Given the description of an element on the screen output the (x, y) to click on. 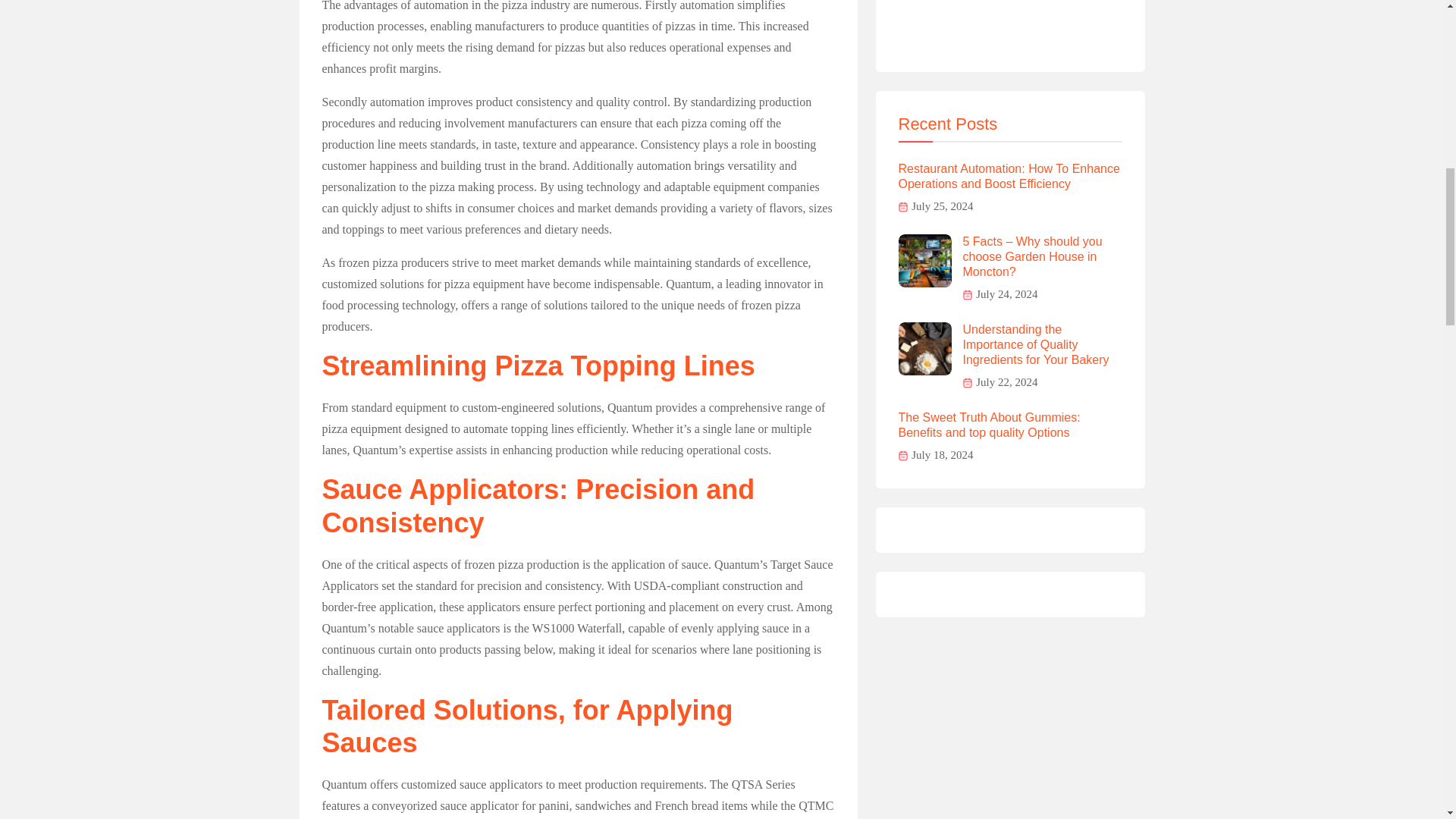
Advertisement (1010, 24)
